Given the description of an element on the screen output the (x, y) to click on. 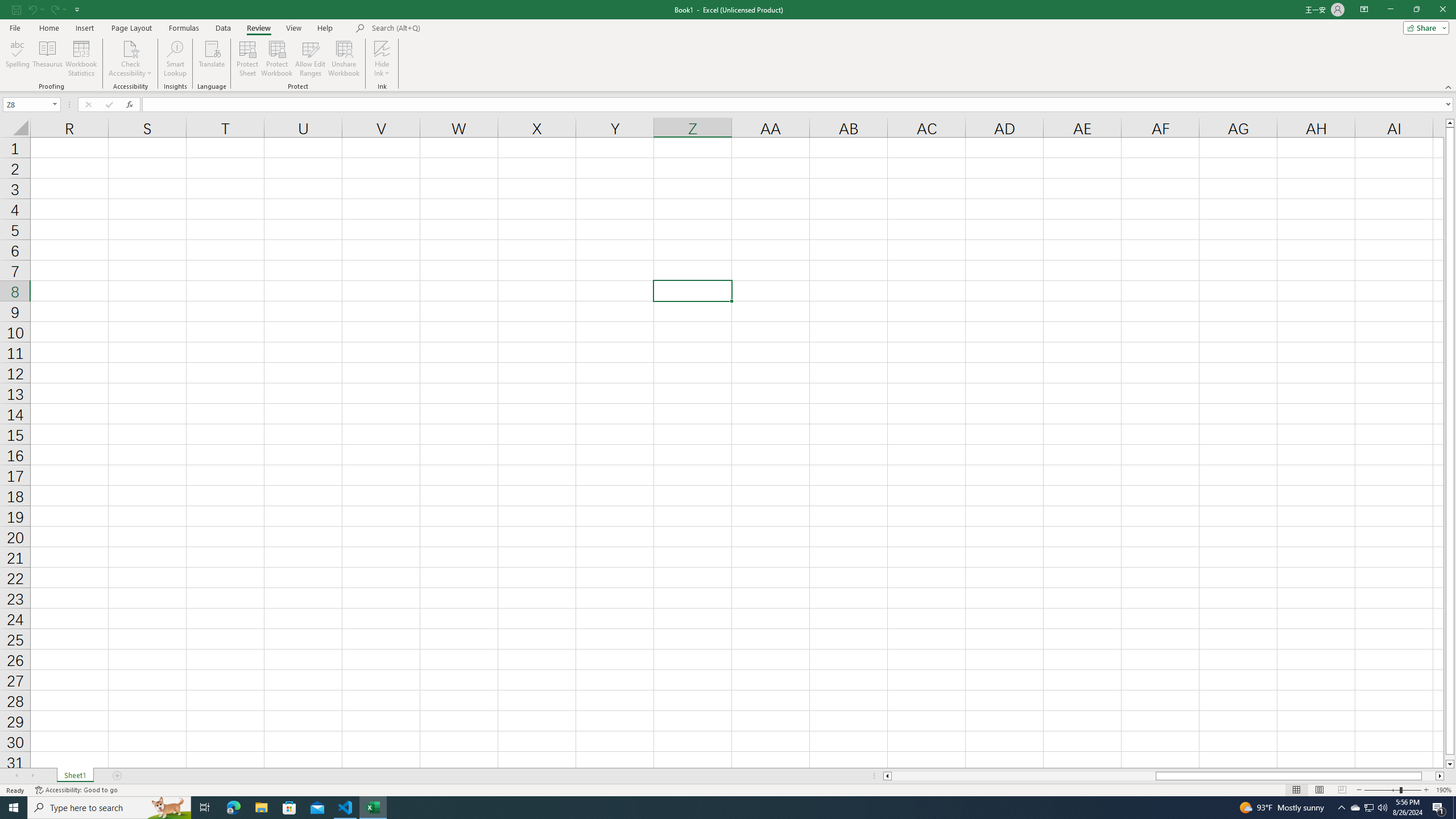
Data (223, 28)
File Tab (15, 27)
Translate (211, 58)
Class: MsoCommandBar (728, 45)
Hide Ink (381, 48)
Ribbon Display Options (1364, 9)
Hide Ink (381, 58)
Quick Access Toolbar (46, 9)
Formulas (184, 28)
Thesaurus... (47, 58)
Share (1423, 27)
Check Accessibility (129, 58)
